Given the description of an element on the screen output the (x, y) to click on. 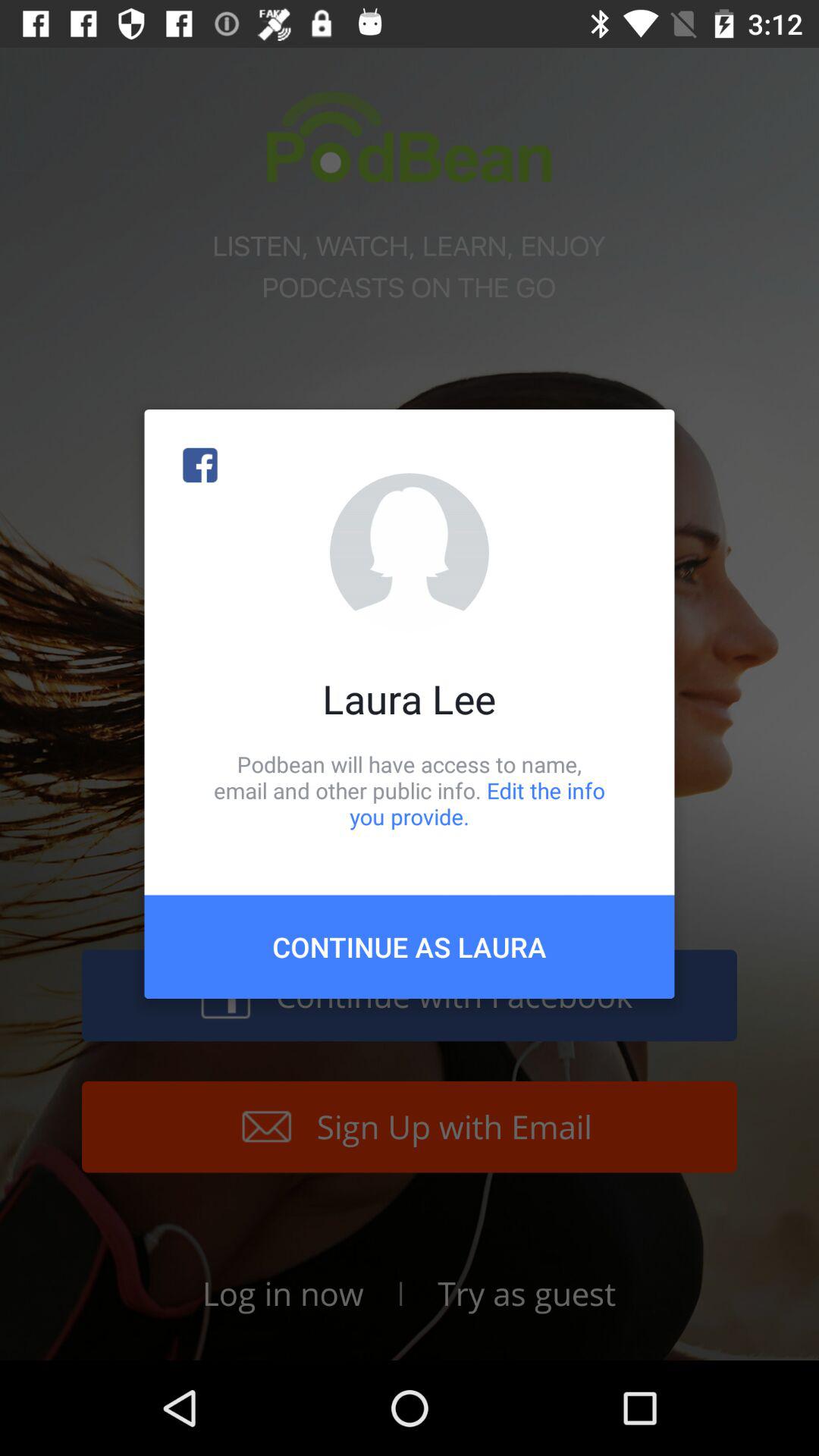
click the icon above the continue as laura icon (409, 790)
